Given the description of an element on the screen output the (x, y) to click on. 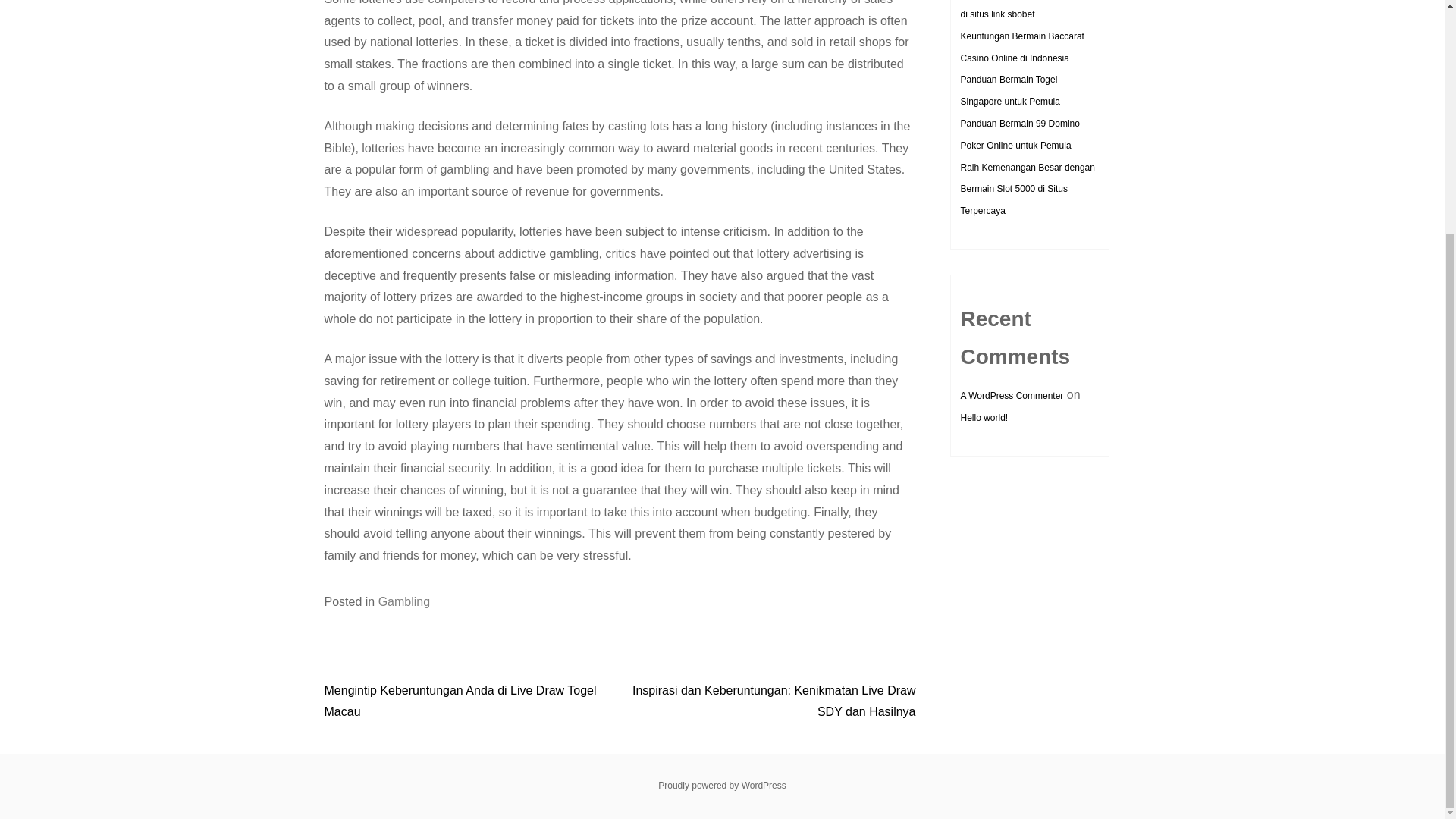
Panduan Bermain Togel Singapore untuk Pemula (1009, 90)
Hello world! (983, 417)
Panduan Bermain 99 Domino Poker Online untuk Pemula (1018, 133)
Gambling (403, 601)
Proudly powered by WordPress (722, 785)
A WordPress Commenter (1010, 395)
Panduan lengkap untuk bermain di situs link sbobet (1024, 9)
Keuntungan Bermain Baccarat Casino Online di Indonesia (1021, 47)
